Given the description of an element on the screen output the (x, y) to click on. 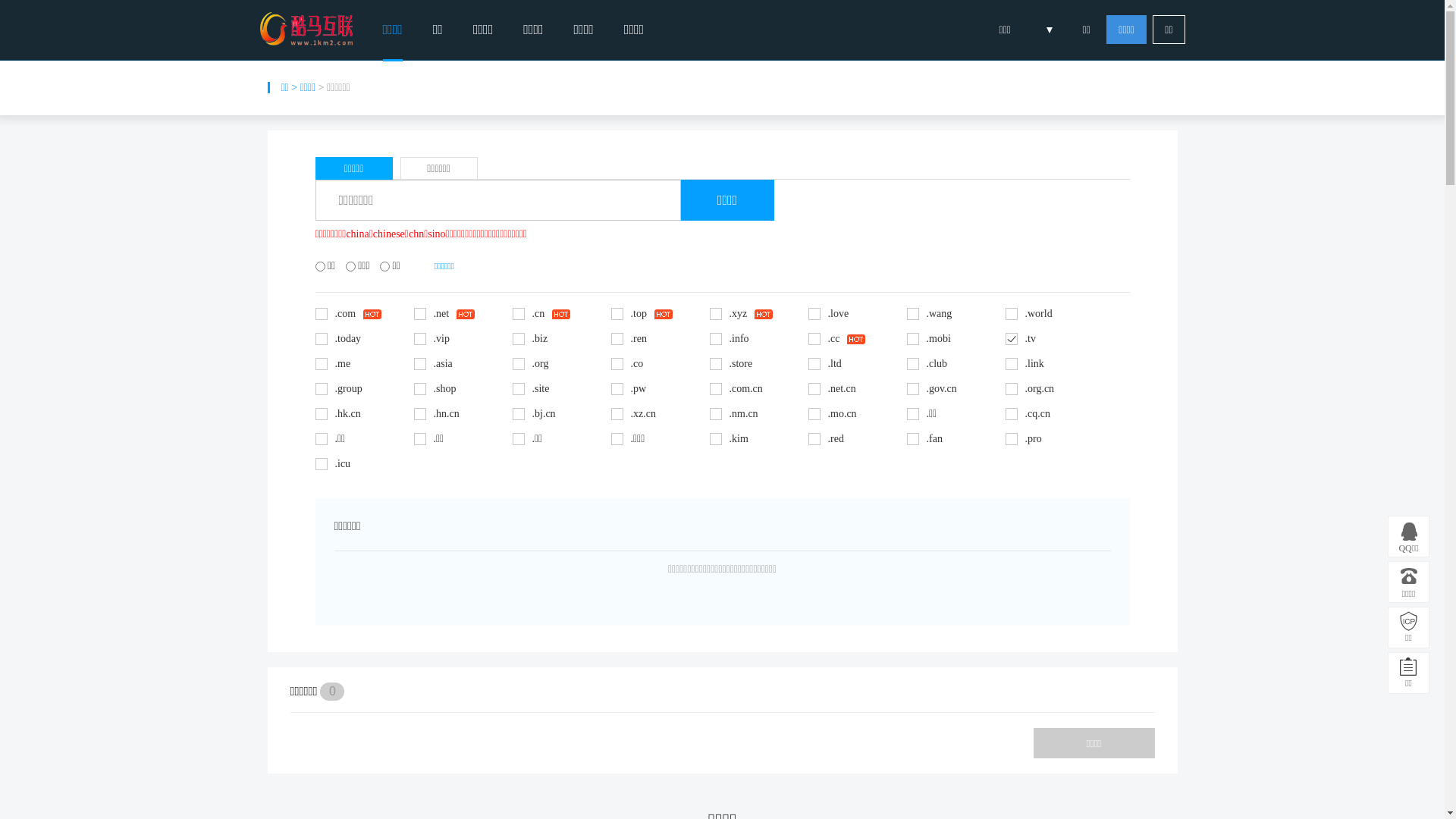
0 Element type: text (332, 691)
